Given the description of an element on the screen output the (x, y) to click on. 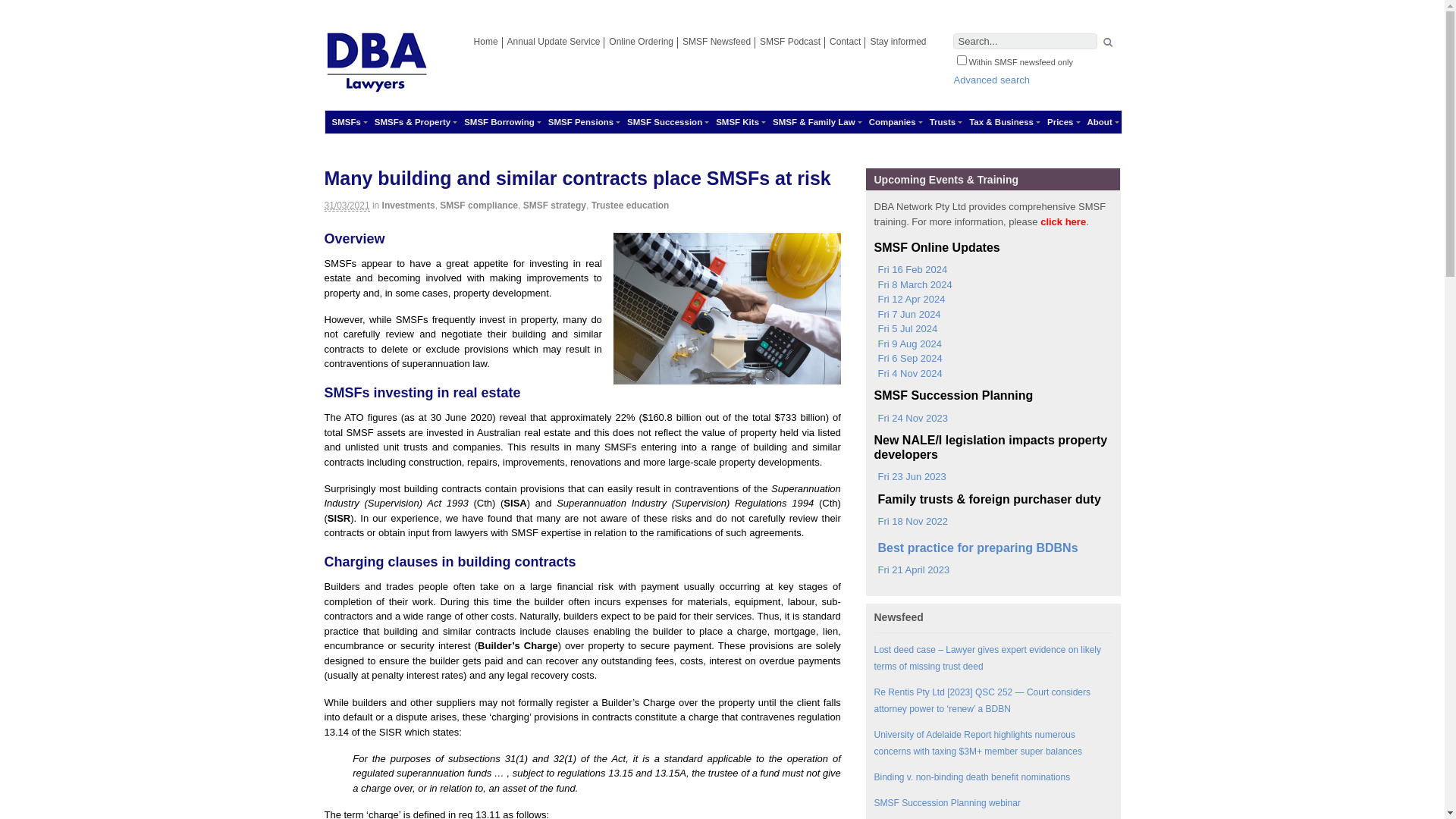
Stay informed Element type: text (897, 41)
Fri 24 Nov 2023 Element type: text (910, 418)
SMSF Succession Planning webinar Element type: text (946, 802)
SMSF & Family Law Element type: text (813, 121)
SMSF Pensions Element type: text (580, 121)
Fri 23 Jun 2023 Element type: text (909, 476)
Search Element type: text (1107, 44)
SMSF Succession Element type: text (664, 121)
SMSF compliance Element type: text (478, 205)
Fri 16 Feb 2024 Element type: text (910, 269)
Home Element type: text (485, 41)
Fri 18 Nov 2022 Element type: text (910, 521)
click here Element type: text (1062, 221)
Trustee education Element type: text (630, 205)
SMSF Newsfeed Element type: text (716, 41)
Online Ordering Element type: text (640, 41)
SMSFs & Property Element type: text (412, 121)
SMSFs Element type: text (345, 121)
Companies Element type: text (892, 121)
Advanced search Element type: text (991, 79)
Annual Update Service Element type: text (553, 41)
SMSF Borrowing Element type: text (499, 121)
Fri 9 Aug 2024 Element type: text (907, 343)
New NALE/I legislation impacts property developers Element type: text (992, 447)
Tax & Business Element type: text (1001, 121)
SMSF strategy Element type: text (554, 205)
Prices Element type: text (1060, 121)
Fri 4 Nov 2024 Element type: text (907, 373)
Investments Element type: text (408, 205)
Fri 7 Jun 2024 Element type: text (906, 314)
Fri 5 Jul 2024 Element type: text (905, 328)
Fri 8 March 2024 Element type: text (912, 284)
SMSF Kits Element type: text (737, 121)
Binding v. non-binding death benefit nominations Element type: text (971, 776)
About Element type: text (1099, 121)
SMSF Podcast Element type: text (790, 41)
Trusts Element type: text (942, 121)
Fri 6 Sep 2024 Element type: text (907, 358)
Best practice for preparing BDBNs Element type: text (975, 547)
Leading SMSF Law Firm Element type: hover (376, 86)
Family trusts & foreign purchaser duty Element type: text (986, 499)
Fri 21 April 2023 Element type: text (911, 569)
Fri 12 Apr 2024 Element type: text (908, 299)
Contact Element type: text (845, 41)
